Given the description of an element on the screen output the (x, y) to click on. 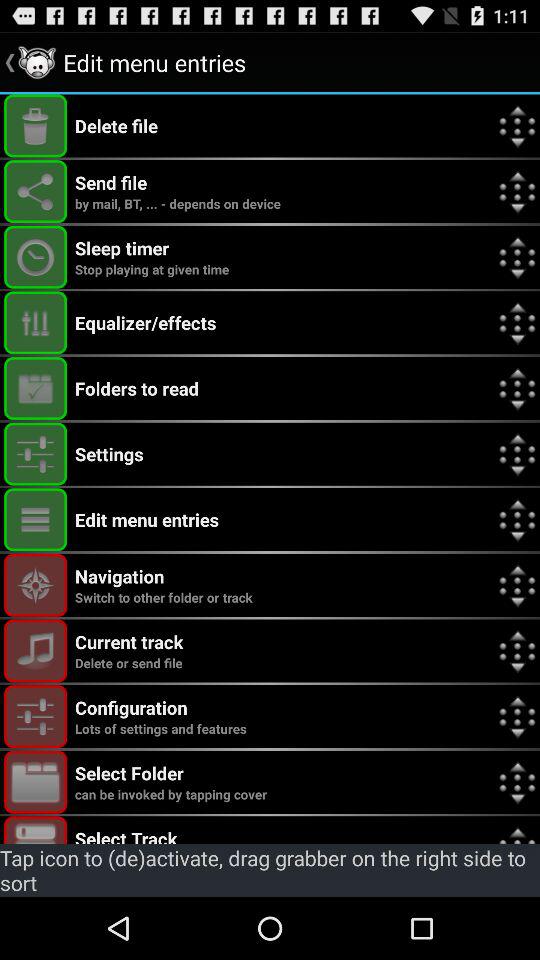
settings (35, 716)
